Given the description of an element on the screen output the (x, y) to click on. 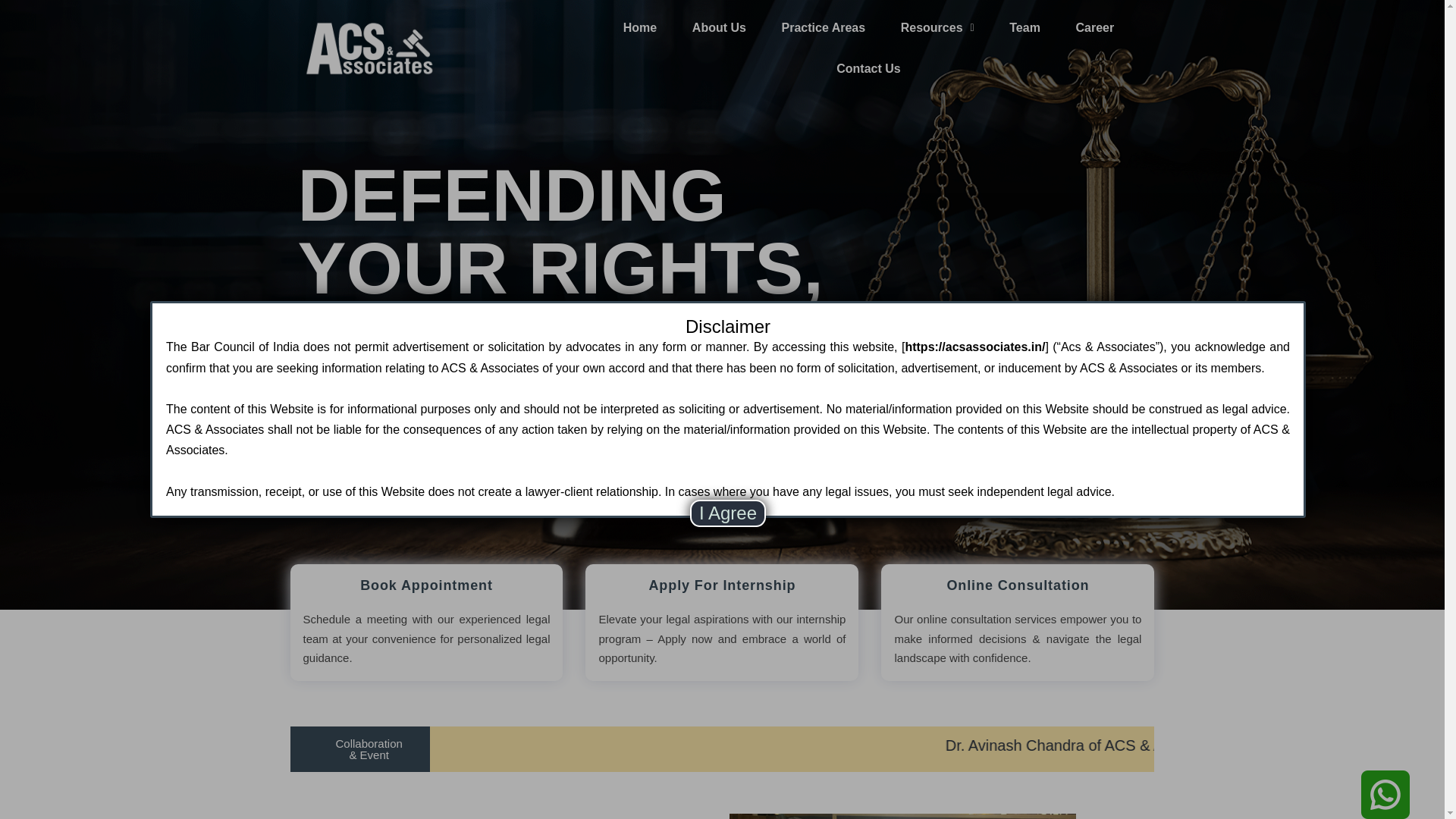
Book Appointment (426, 559)
Team (1024, 27)
Resources (936, 27)
Career (1094, 27)
Home (639, 27)
About Us (719, 27)
Contact Us (868, 68)
Practice Areas (822, 27)
Apply For Internship (720, 563)
